Given the description of an element on the screen output the (x, y) to click on. 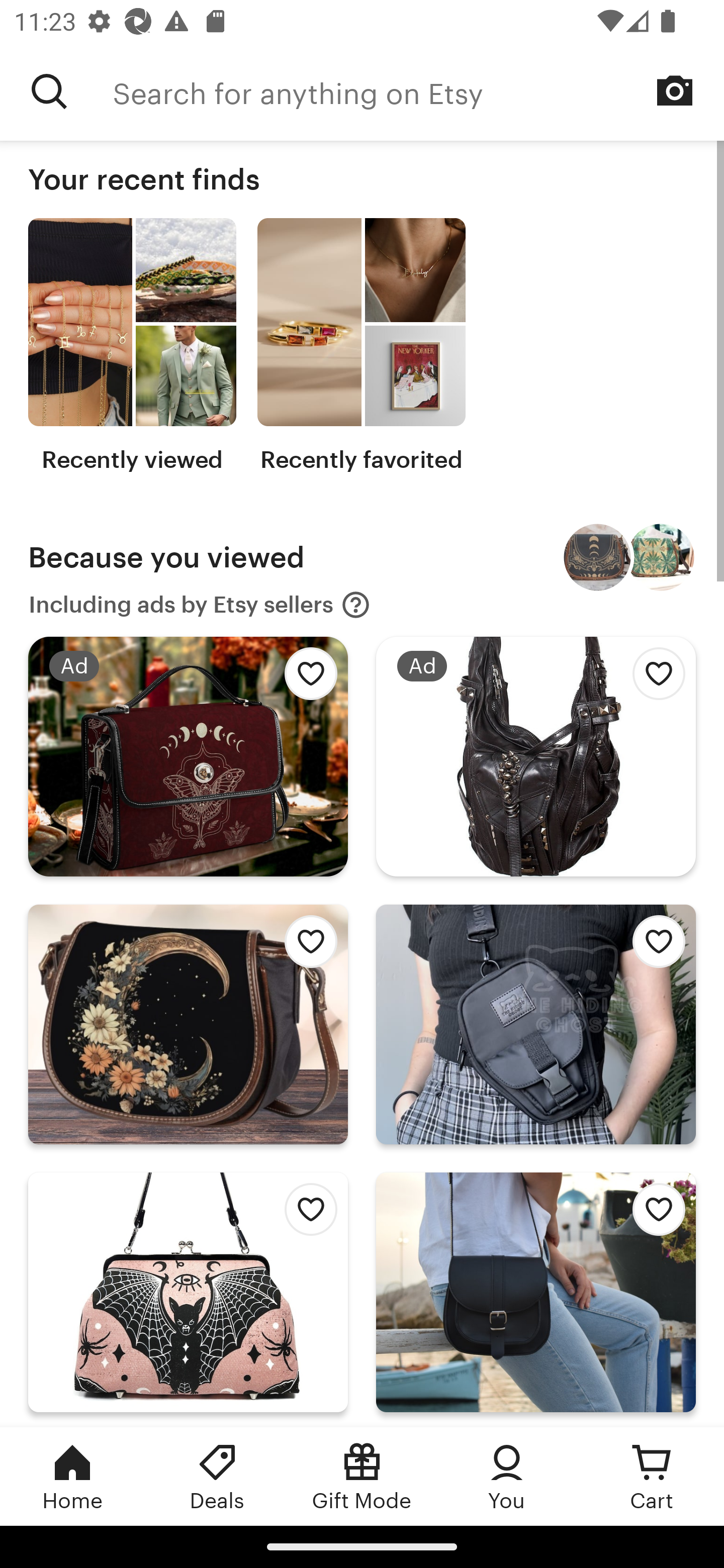
Search for anything on Etsy (49, 91)
Search by image (674, 90)
Search for anything on Etsy (418, 91)
Recently viewed (132, 345)
Recently favorited (361, 345)
Including ads by Etsy sellers (199, 604)
Deals (216, 1475)
Gift Mode (361, 1475)
You (506, 1475)
Cart (651, 1475)
